Given the description of an element on the screen output the (x, y) to click on. 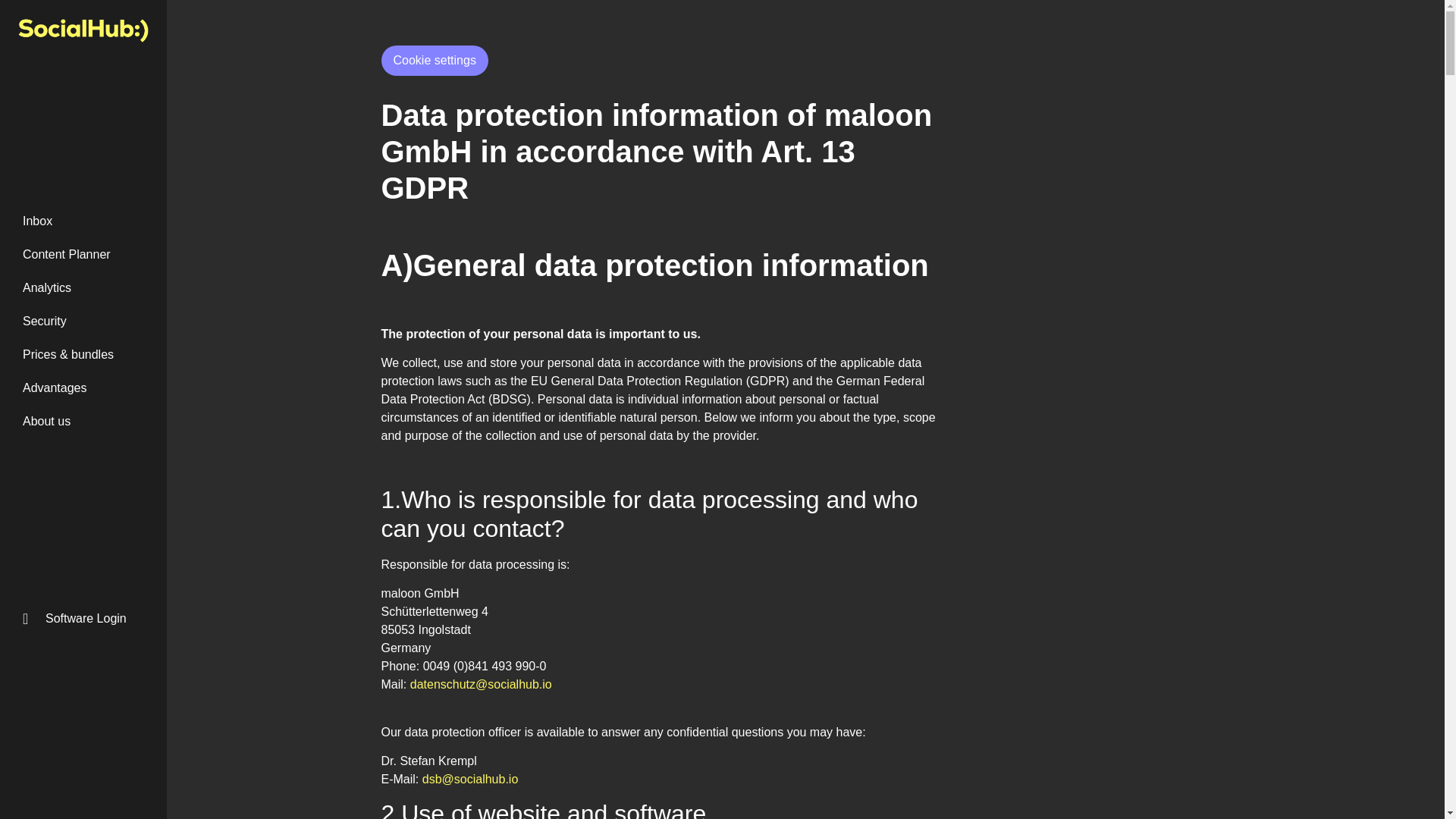
Cookie settings (433, 60)
Security (83, 321)
Content Planner (83, 254)
Software Login (83, 618)
About us (83, 421)
Advantages (83, 387)
Analytics (83, 287)
Inbox (83, 221)
